Given the description of an element on the screen output the (x, y) to click on. 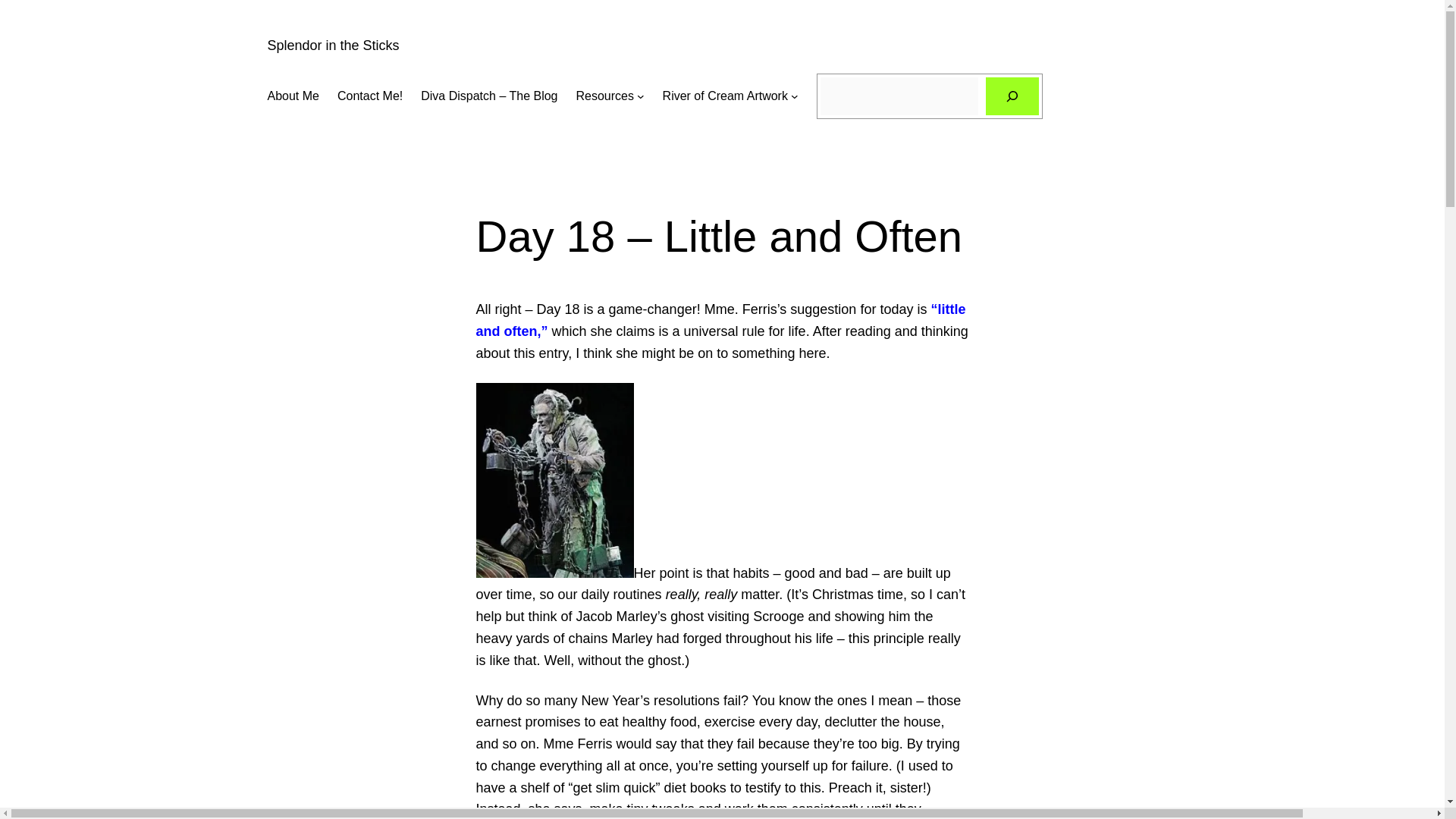
Contact Me! (370, 96)
Splendor in the Sticks (332, 45)
Resources (604, 96)
River of Cream Artwork (724, 96)
About Me (292, 96)
